Given the description of an element on the screen output the (x, y) to click on. 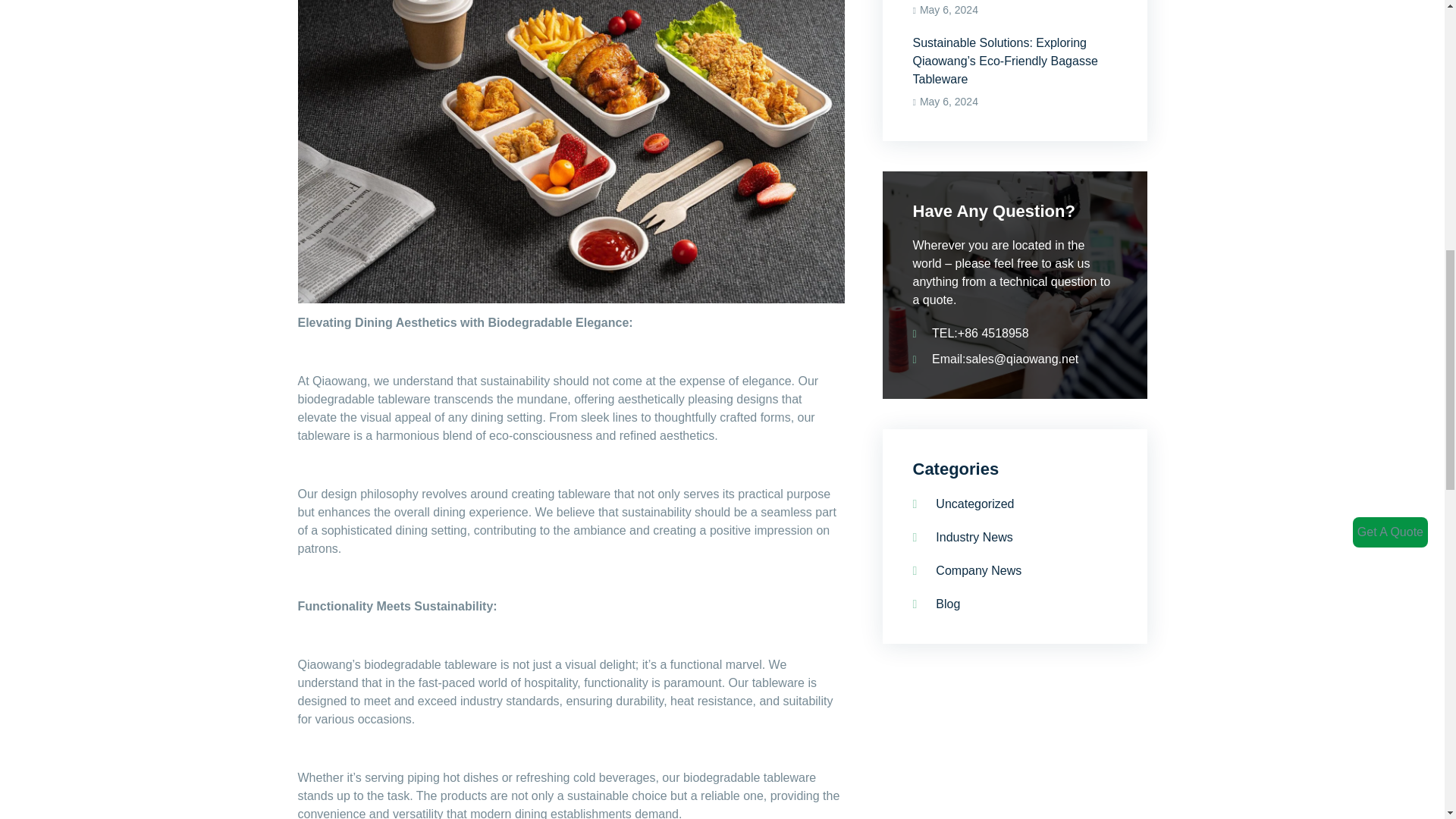
Company News (967, 570)
Uncategorized (963, 504)
Industry News (962, 537)
